Given the description of an element on the screen output the (x, y) to click on. 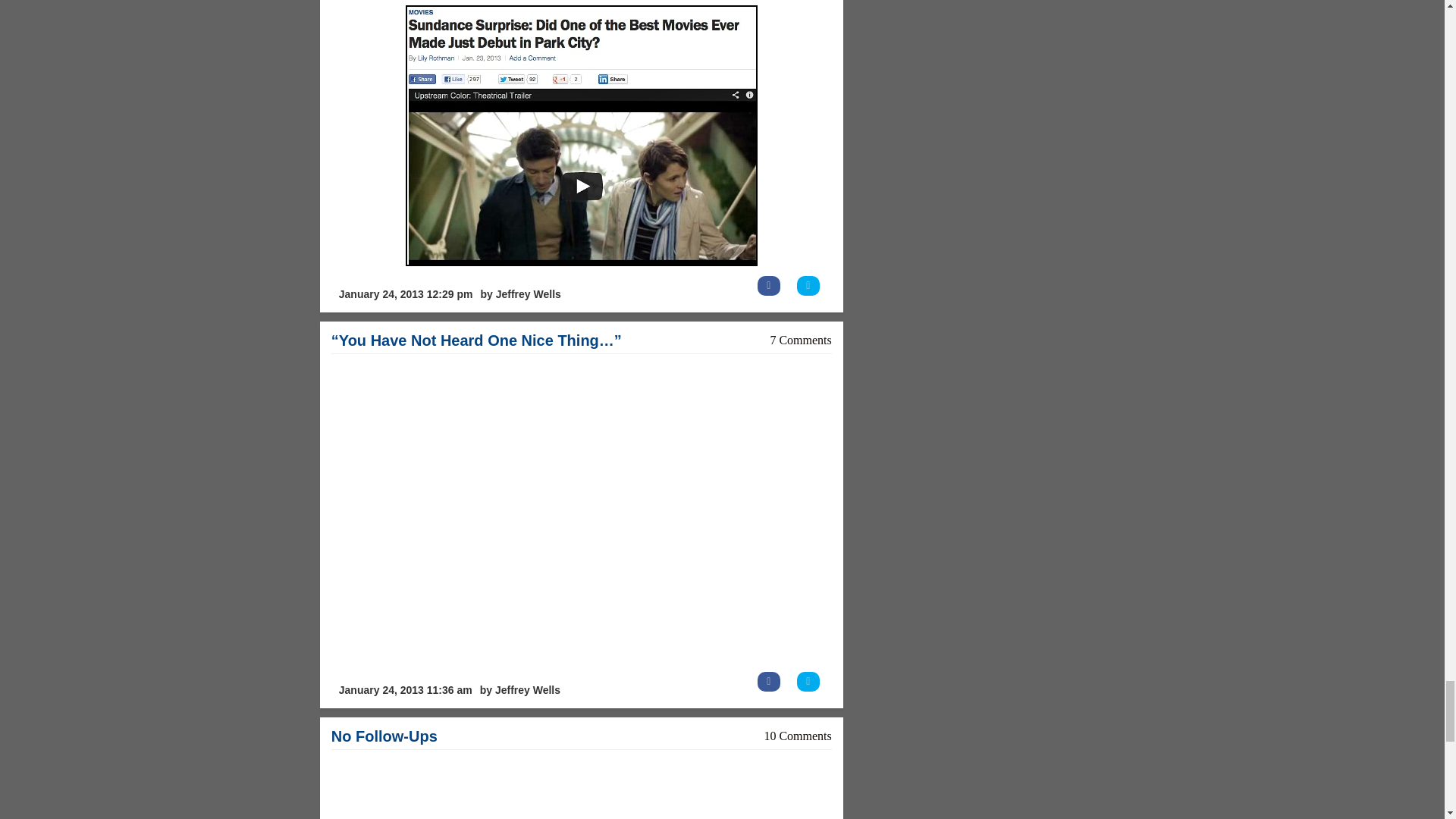
Permanent Link to No Follow-Ups (384, 736)
